Given the description of an element on the screen output the (x, y) to click on. 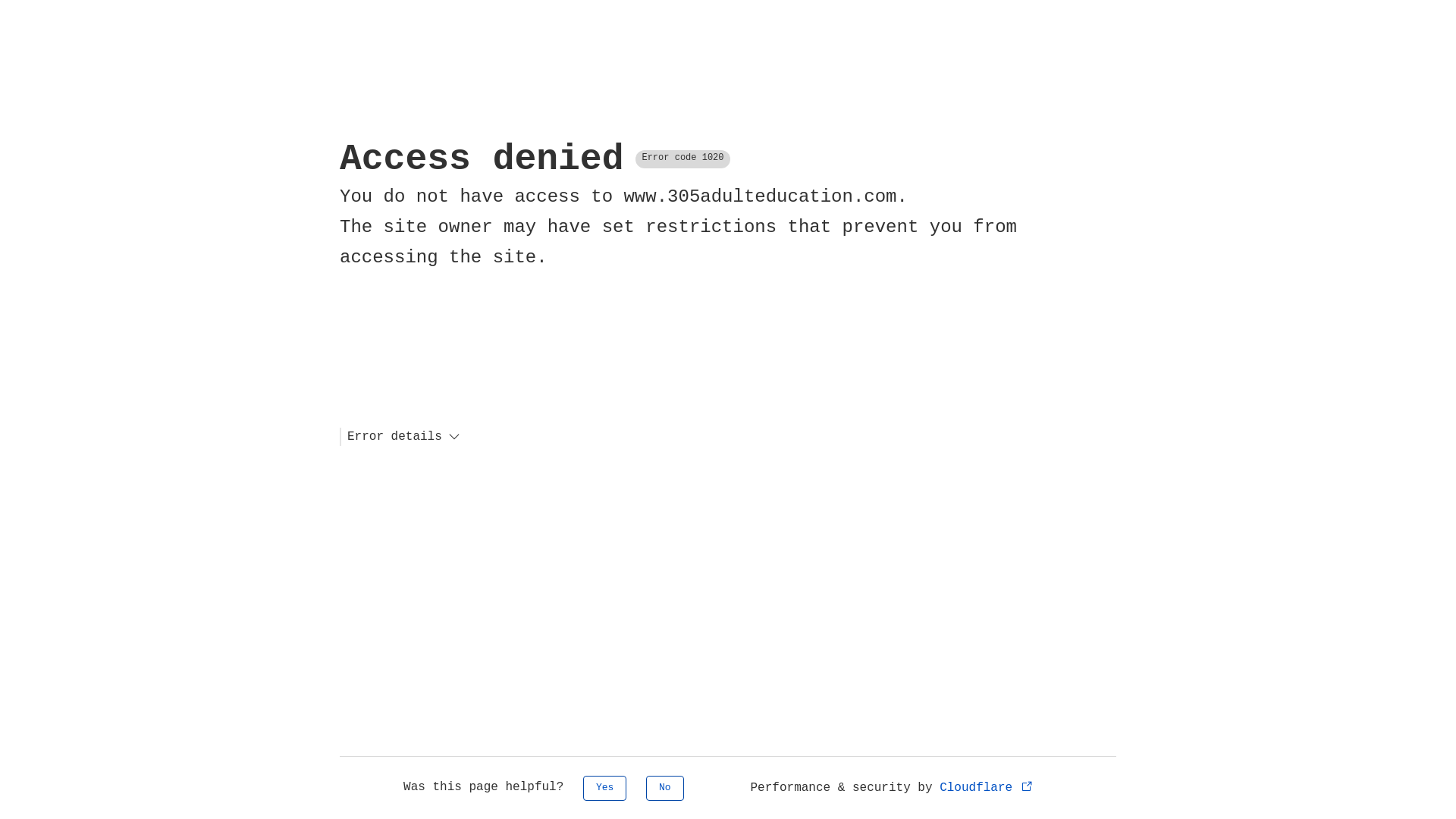
Yes Element type: text (604, 787)
Opens in new tab Element type: hover (1027, 785)
Cloudflare Element type: text (986, 787)
No Element type: text (665, 787)
